Given the description of an element on the screen output the (x, y) to click on. 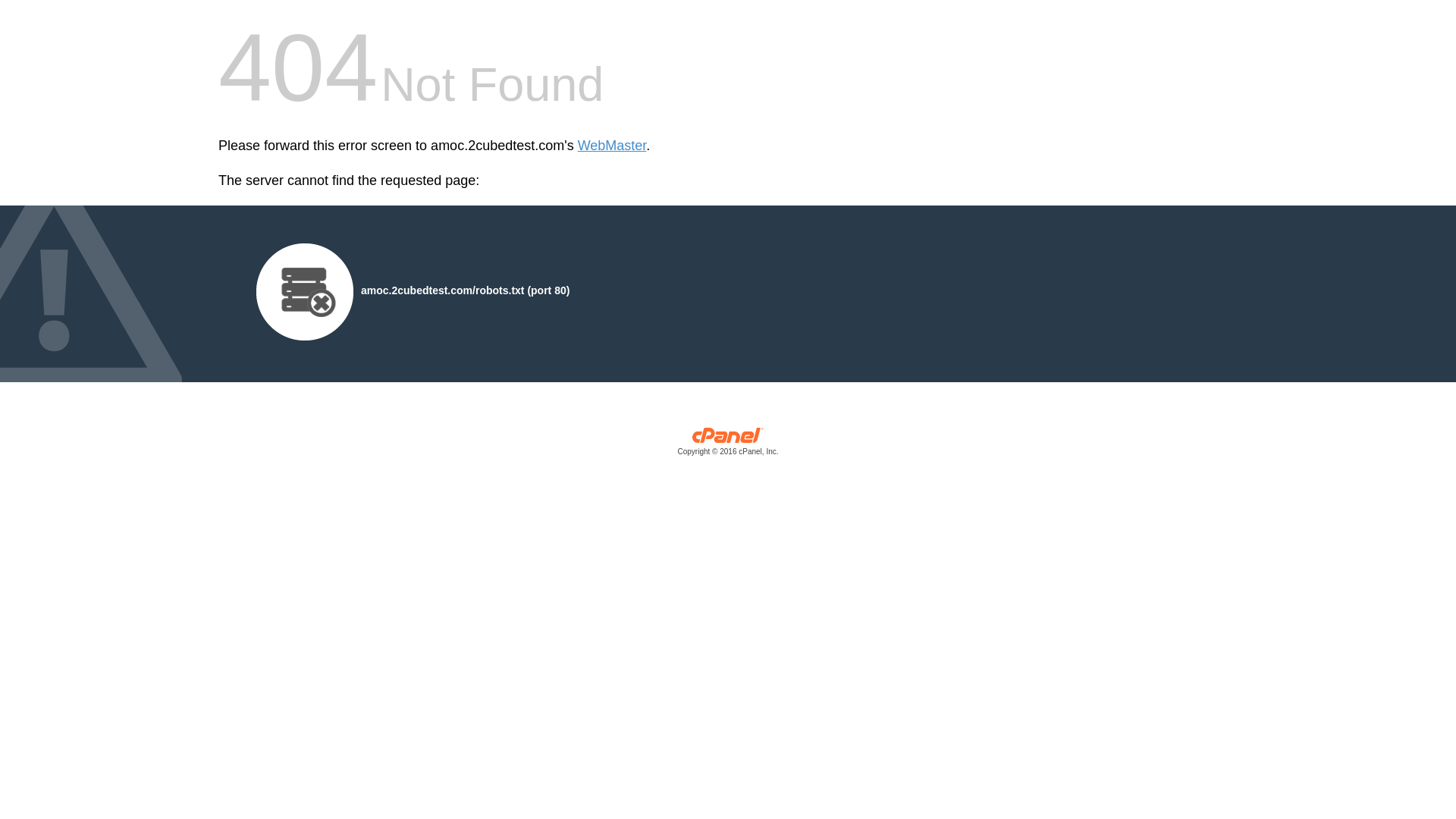
WebMaster Element type: text (611, 145)
